Given the description of an element on the screen output the (x, y) to click on. 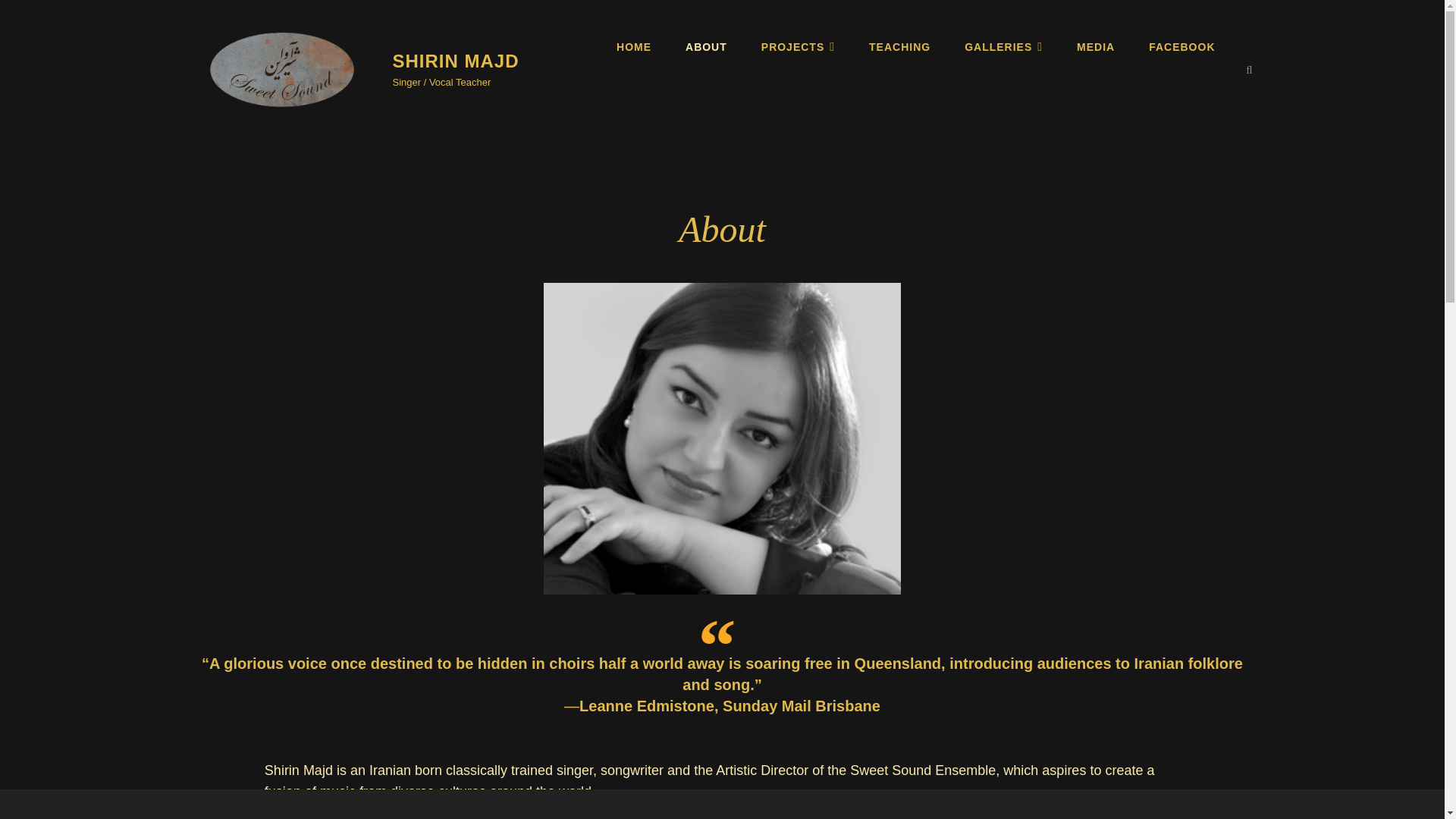
ABOUT (705, 46)
SEARCH (1249, 69)
HOME (633, 46)
PROJECTS (797, 46)
FACEBOOK (1182, 46)
MEDIA (1095, 46)
SHIRIN MAJD (456, 60)
TEACHING (898, 46)
GALLERIES (1003, 46)
